Given the description of an element on the screen output the (x, y) to click on. 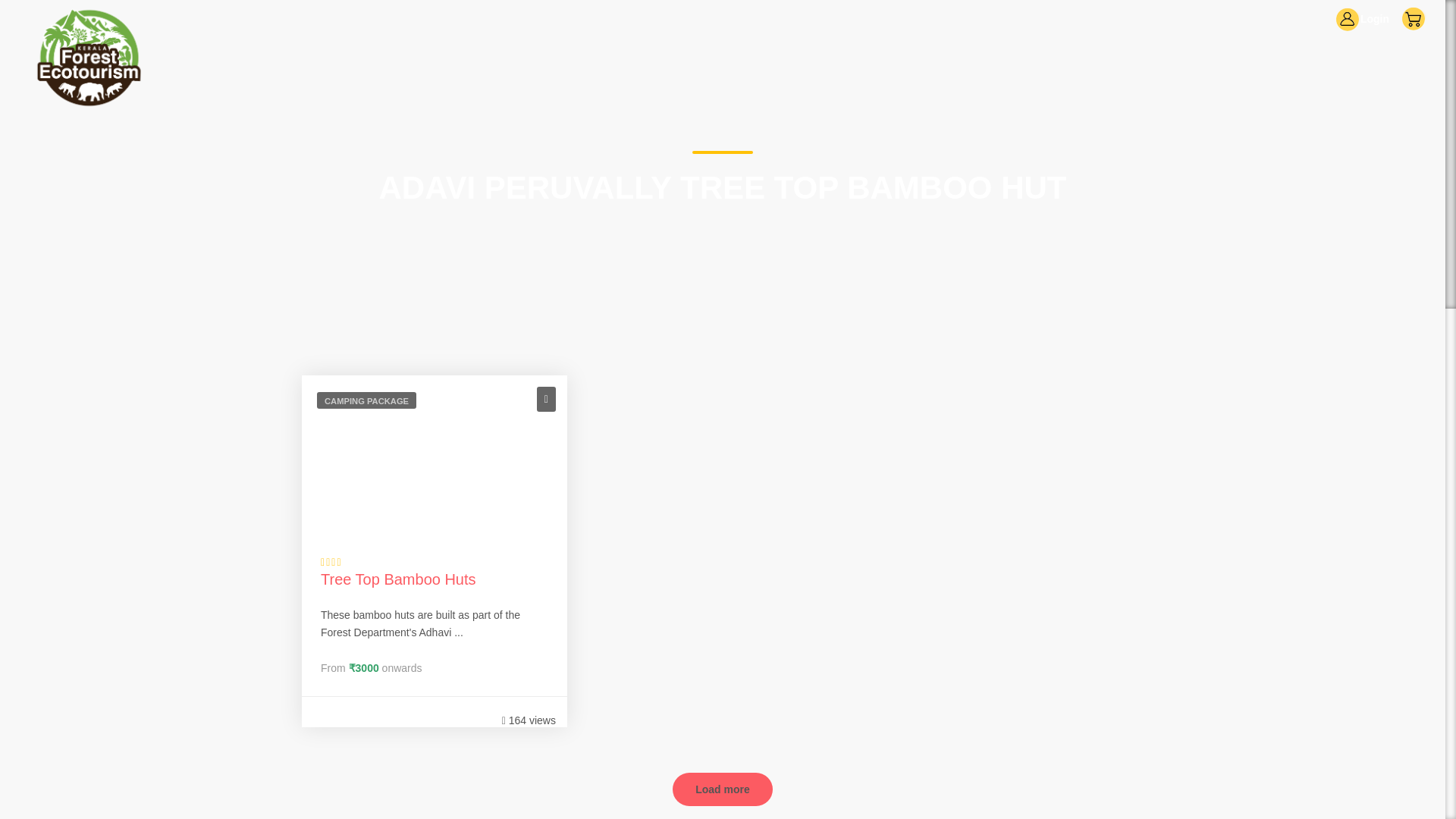
Load more (722, 789)
Login (1361, 19)
Tree Top Bamboo Huts (398, 579)
